Given the description of an element on the screen output the (x, y) to click on. 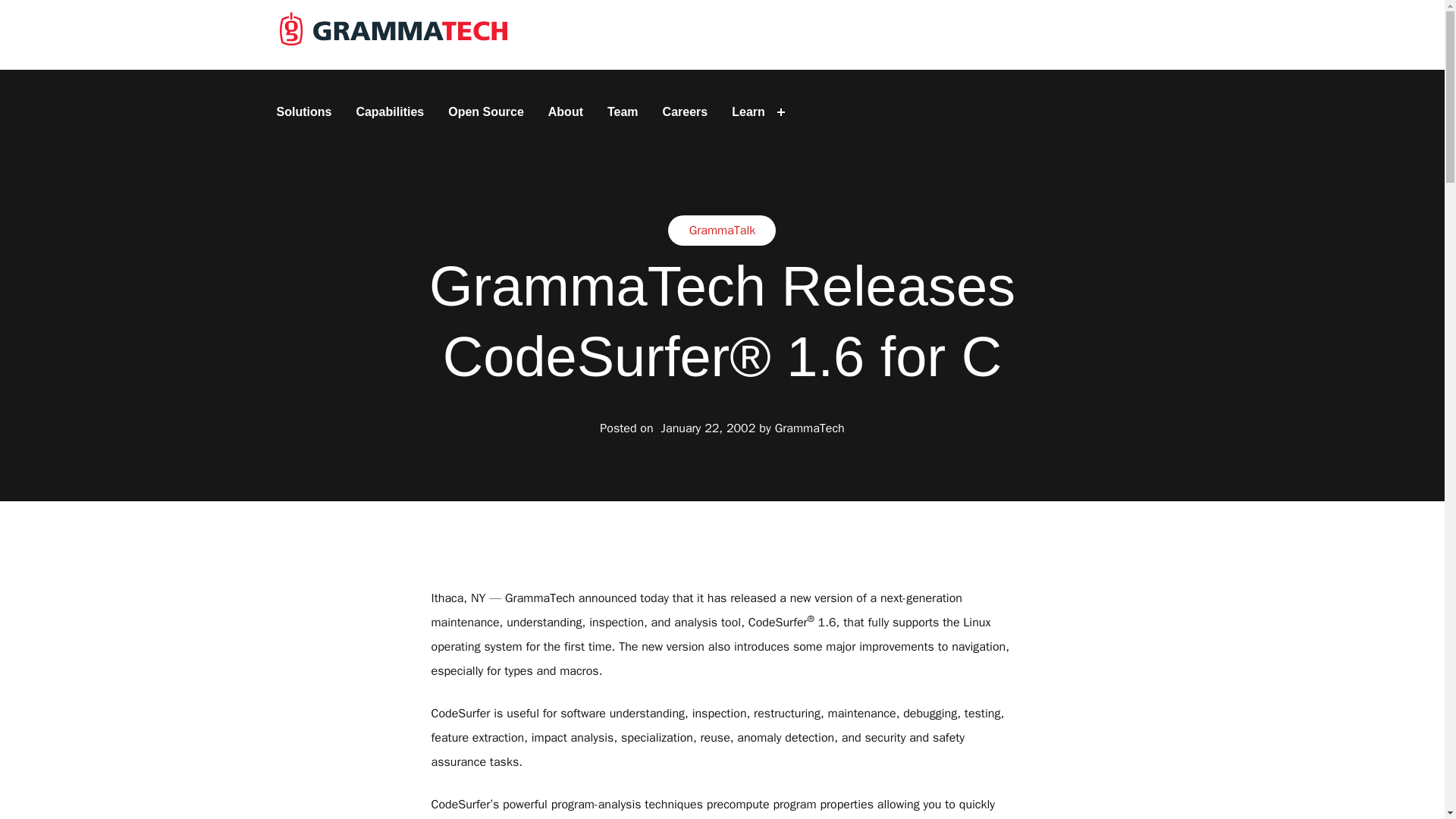
Learn (748, 112)
Solutions (303, 112)
Open Source (485, 112)
Careers (685, 112)
Capabilities (389, 112)
CONTACT US (1108, 34)
Team (622, 112)
About (565, 112)
